Given the description of an element on the screen output the (x, y) to click on. 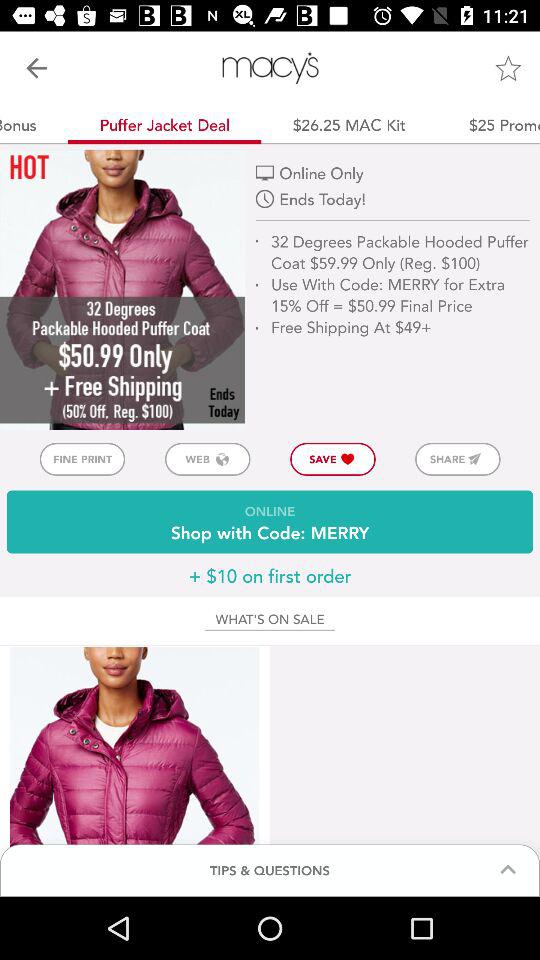
turn on the icon to the left of share icon (332, 458)
